Given the description of an element on the screen output the (x, y) to click on. 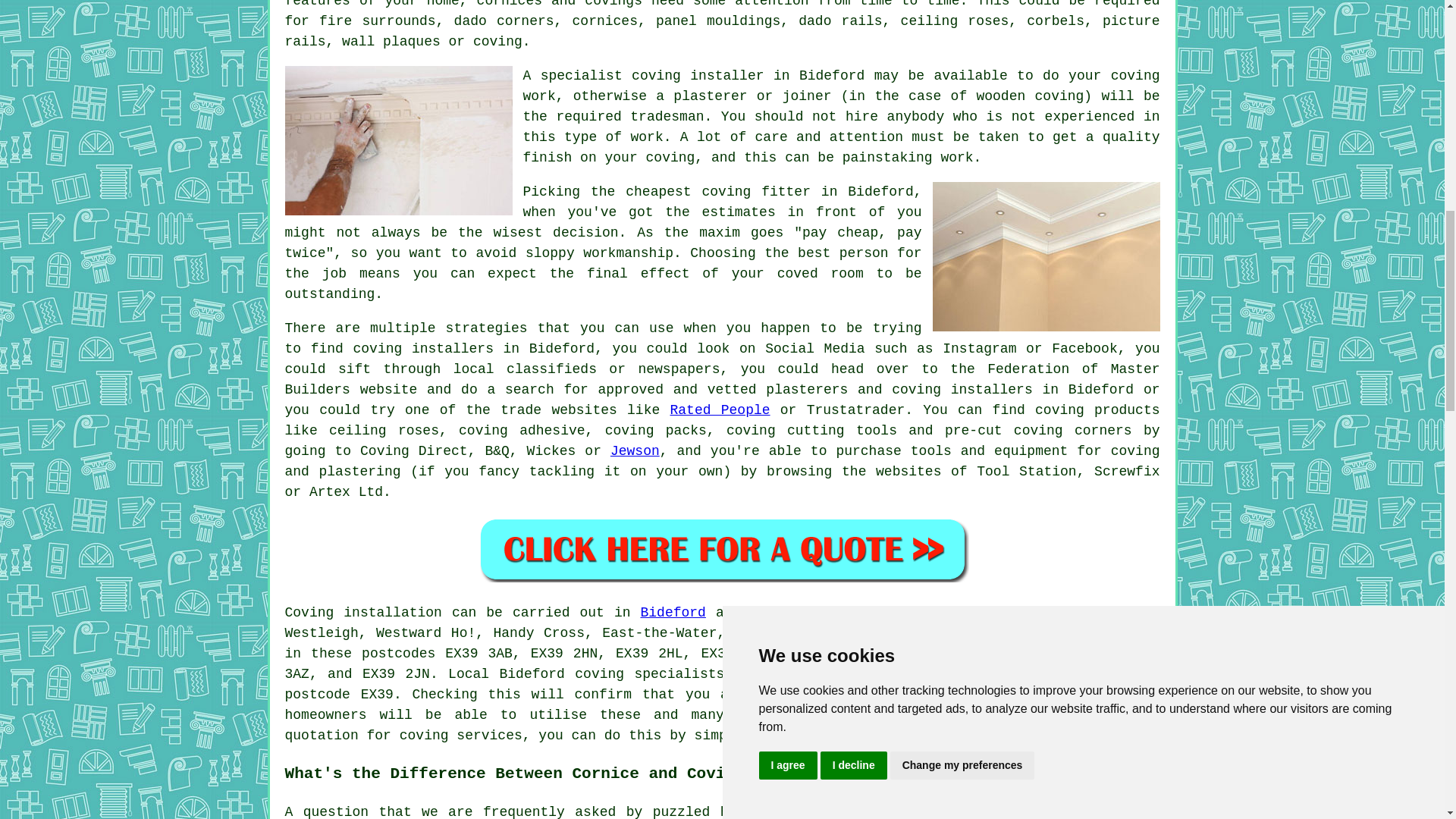
coving specialists (649, 673)
Coving Fitters Bideford EX39 (398, 140)
coving fitters (1016, 694)
Coving installation (363, 612)
